Given the description of an element on the screen output the (x, y) to click on. 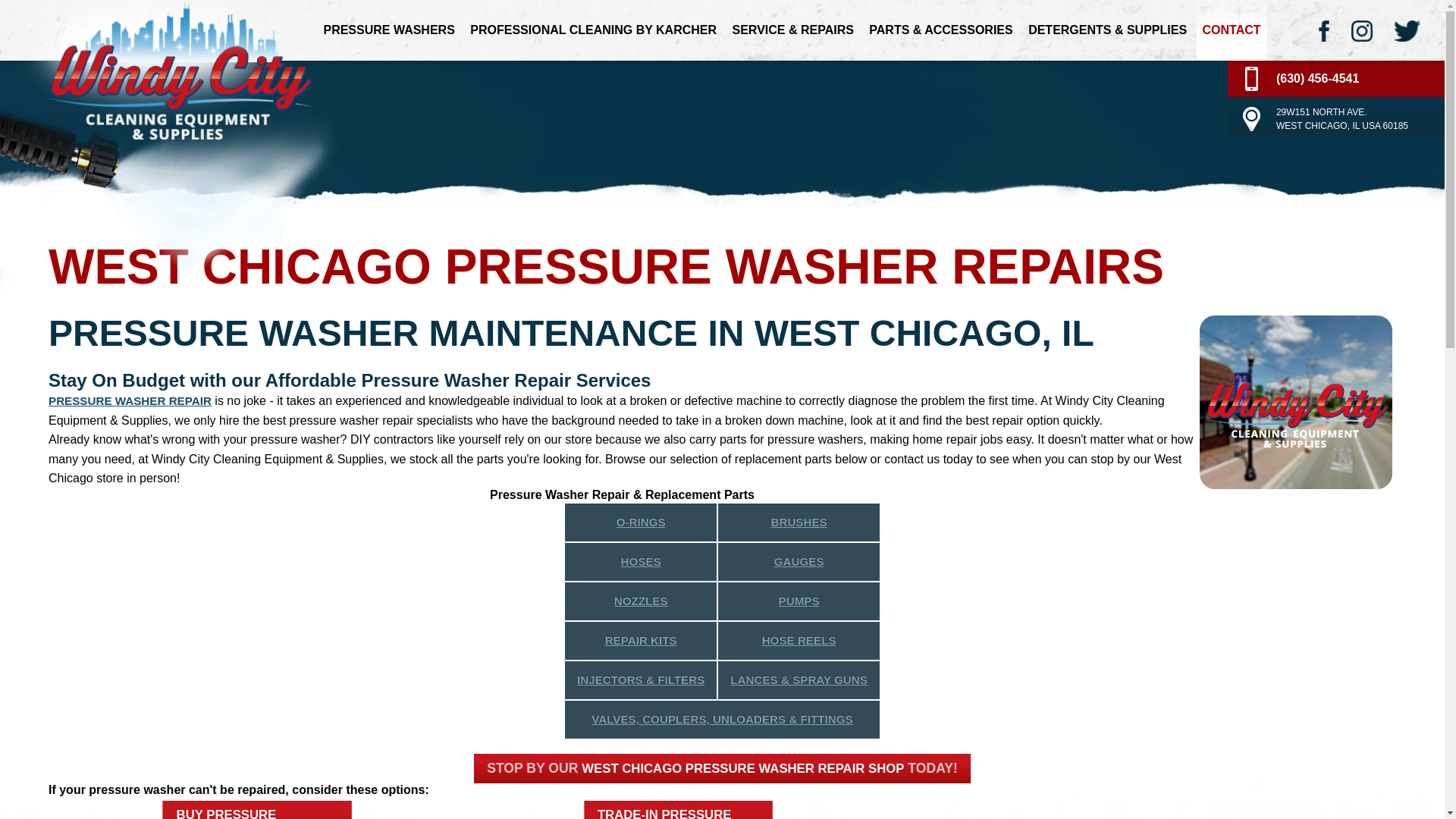
PRESSURE WASHERS (388, 30)
High PSI Pressure washers for sale in West Chicago, IL (388, 30)
PROFESSIONAL CLEANING BY KARCHER (593, 30)
Service and rentals for pressure washers in West Chicago, IL (593, 30)
